Given the description of an element on the screen output the (x, y) to click on. 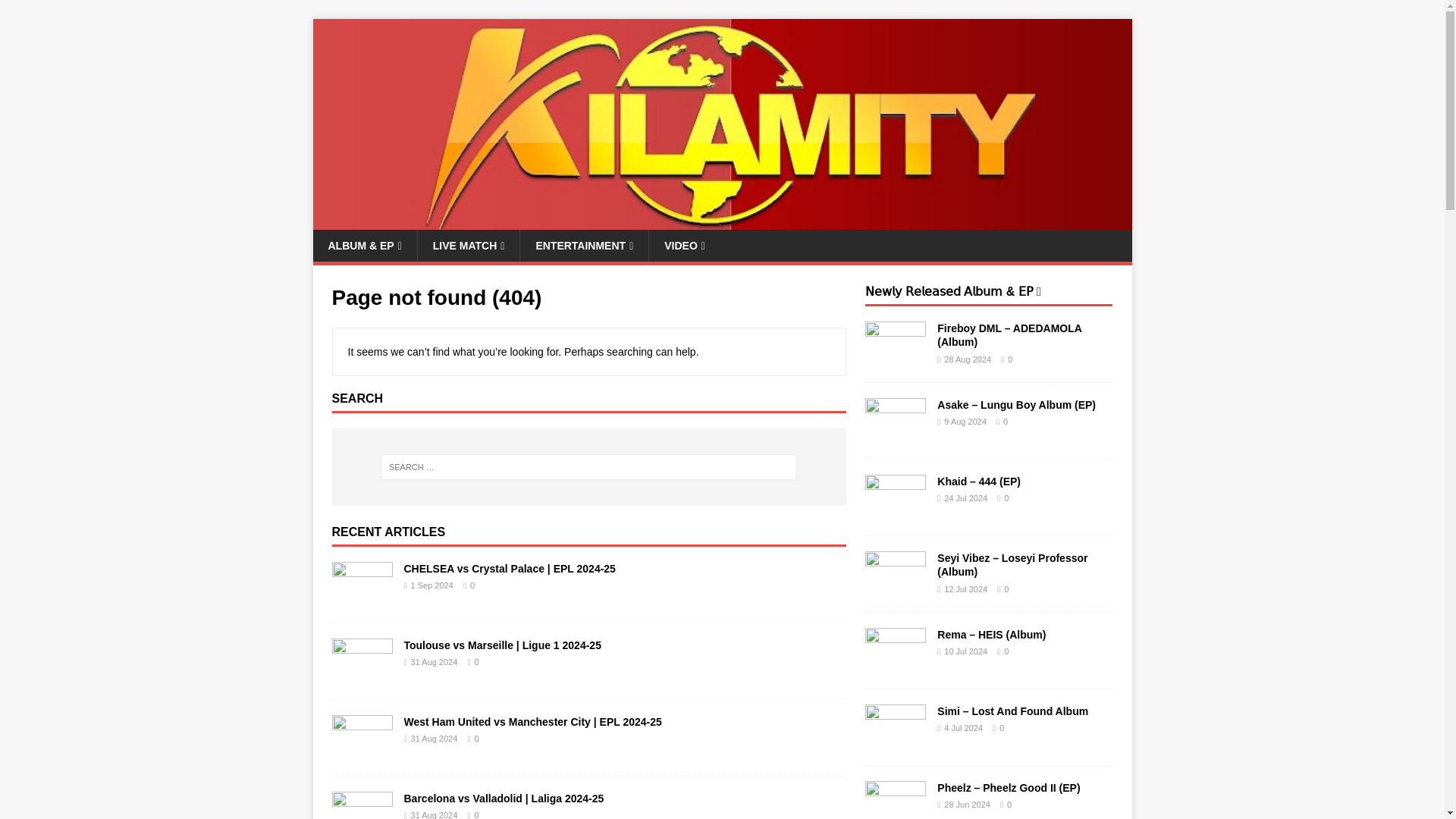
ENTERTAINMENT (583, 245)
VIDEO (683, 245)
Kilamity (722, 221)
LIVE MATCH (467, 245)
Search (56, 11)
